Given the description of an element on the screen output the (x, y) to click on. 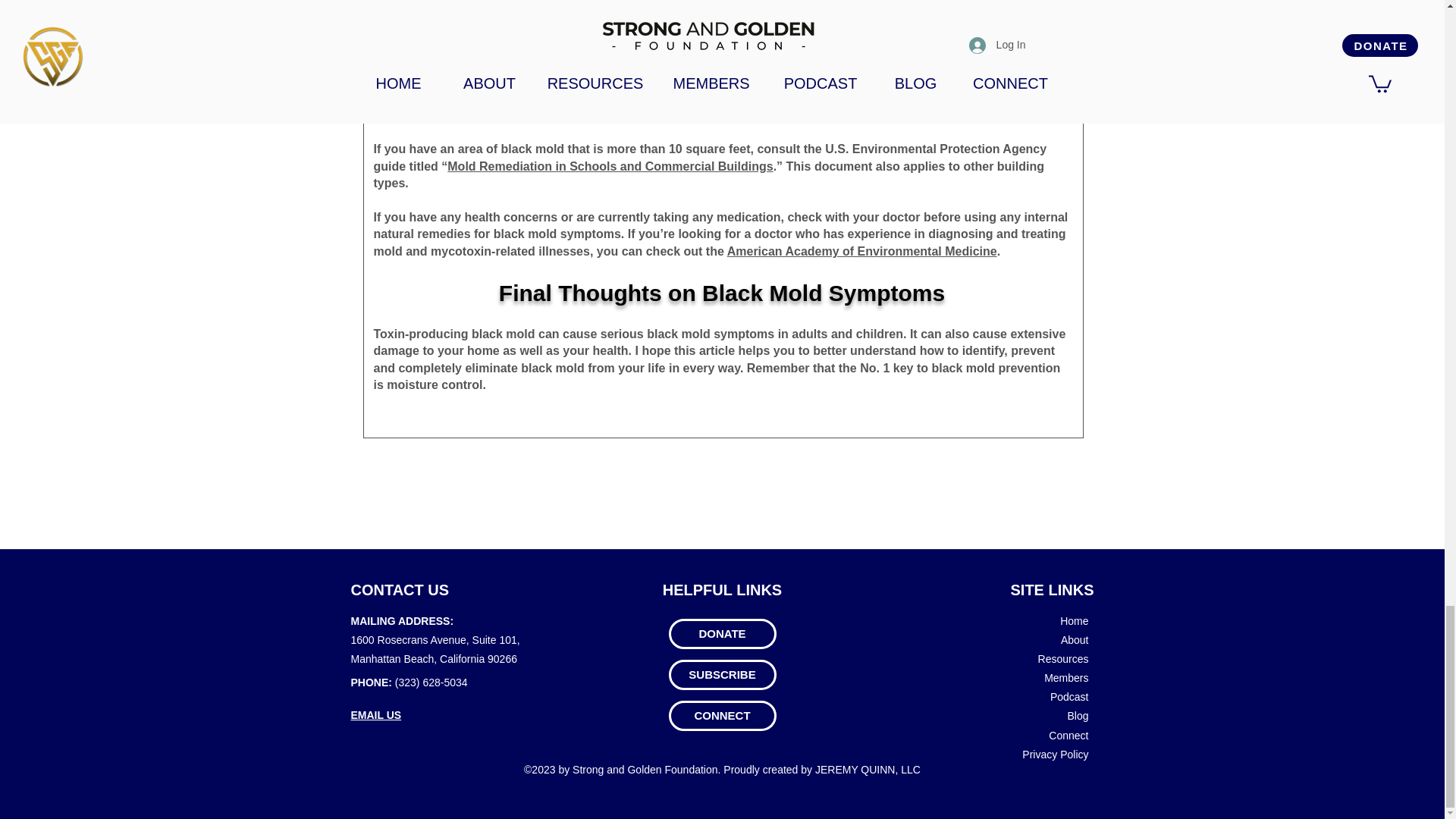
Mold Remediation in Schools and Commercial Buildings (609, 165)
American Academy of Environmental Medicine (861, 250)
12 (956, 63)
